Given the description of an element on the screen output the (x, y) to click on. 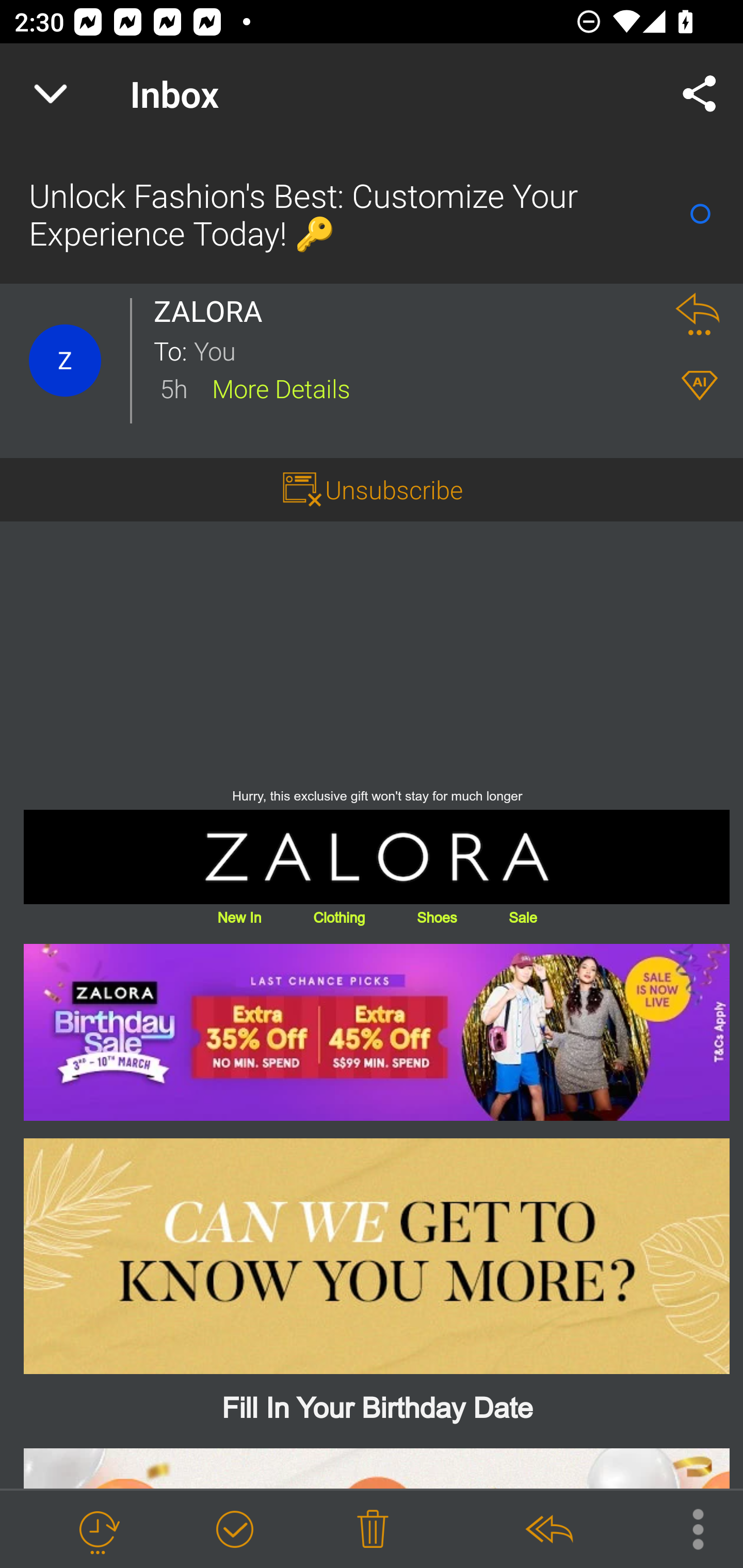
Navigate up (50, 93)
Share (699, 93)
Mark as Read (699, 213)
ZALORA (213, 310)
Contact Details (64, 360)
You (422, 349)
More Details (280, 387)
Unsubscribe (393, 488)
ZALORA (377, 856)
New In (238, 916)
Clothing (339, 916)
Shoes (436, 916)
Sale (522, 916)
click?upn=u001 (377, 1031)
More Options (687, 1528)
Snooze (97, 1529)
Mark as Done (234, 1529)
Delete (372, 1529)
Reply All (548, 1529)
